Given the description of an element on the screen output the (x, y) to click on. 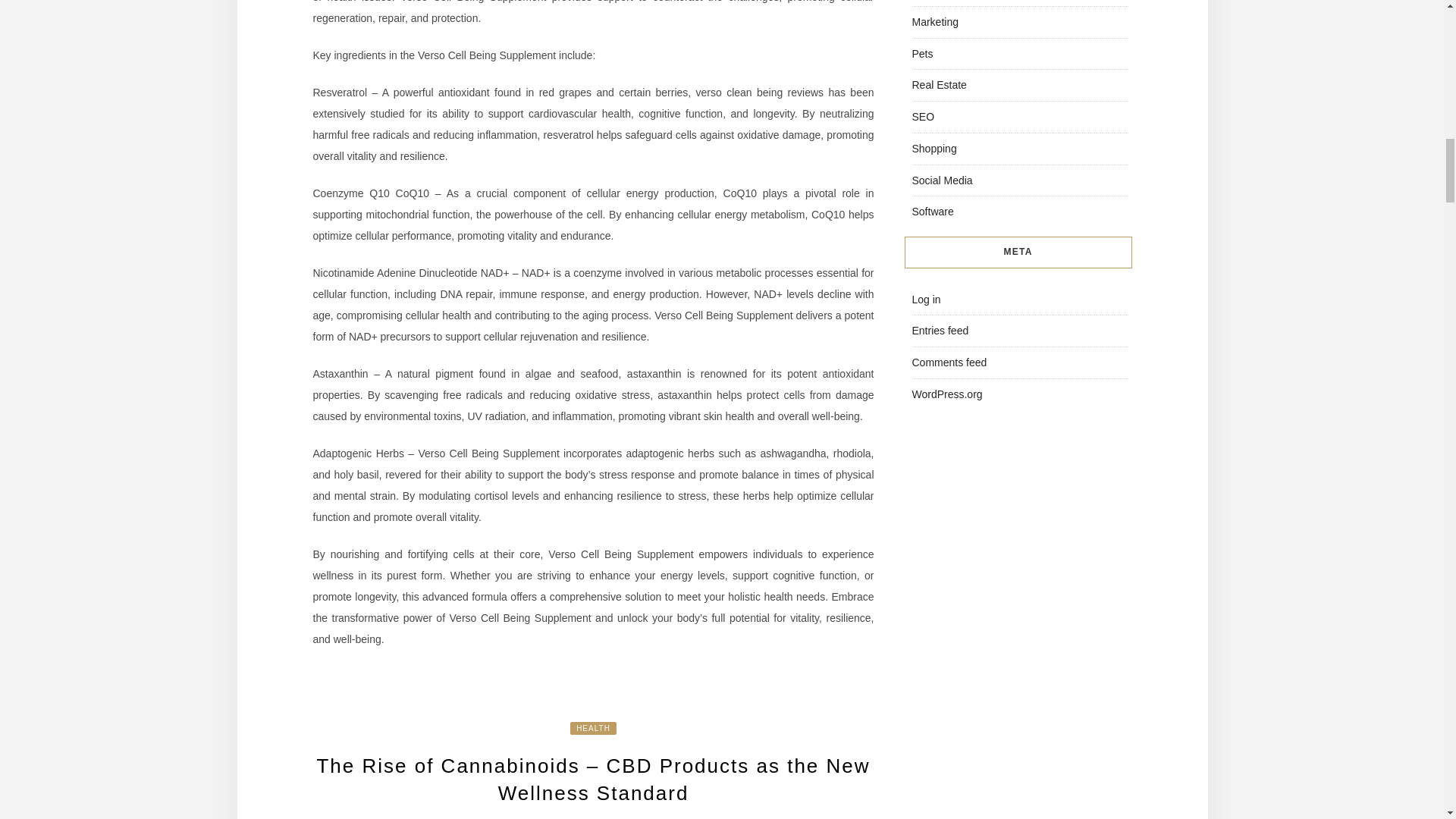
HEALTH (592, 727)
